Given the description of an element on the screen output the (x, y) to click on. 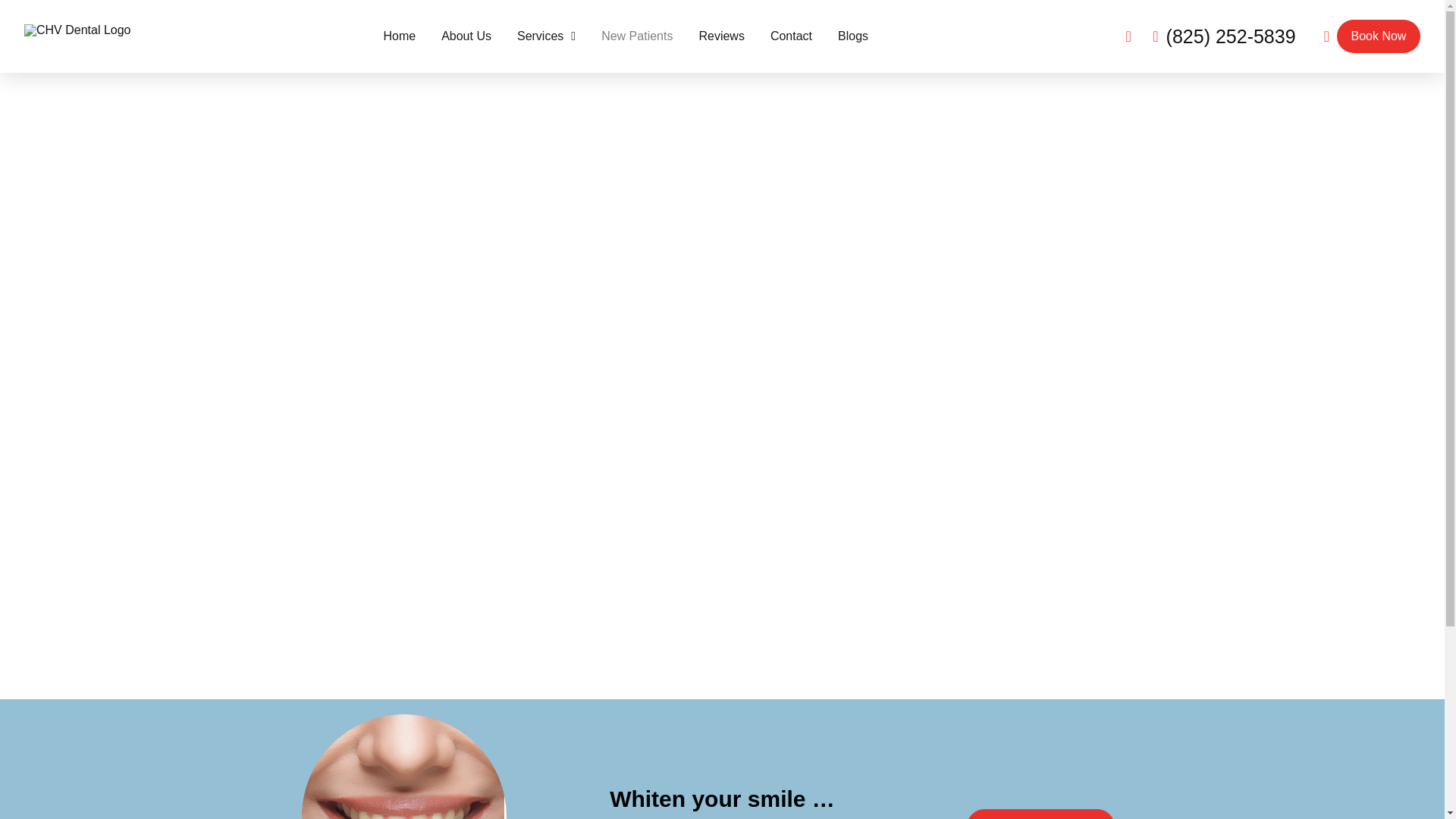
Try FlashSmile Free (1040, 814)
Services (545, 36)
Blogs (848, 36)
Reviews (721, 36)
Book Now (1378, 36)
Contact (791, 36)
About Us (465, 36)
Home (398, 36)
New Patients (636, 36)
